Given the description of an element on the screen output the (x, y) to click on. 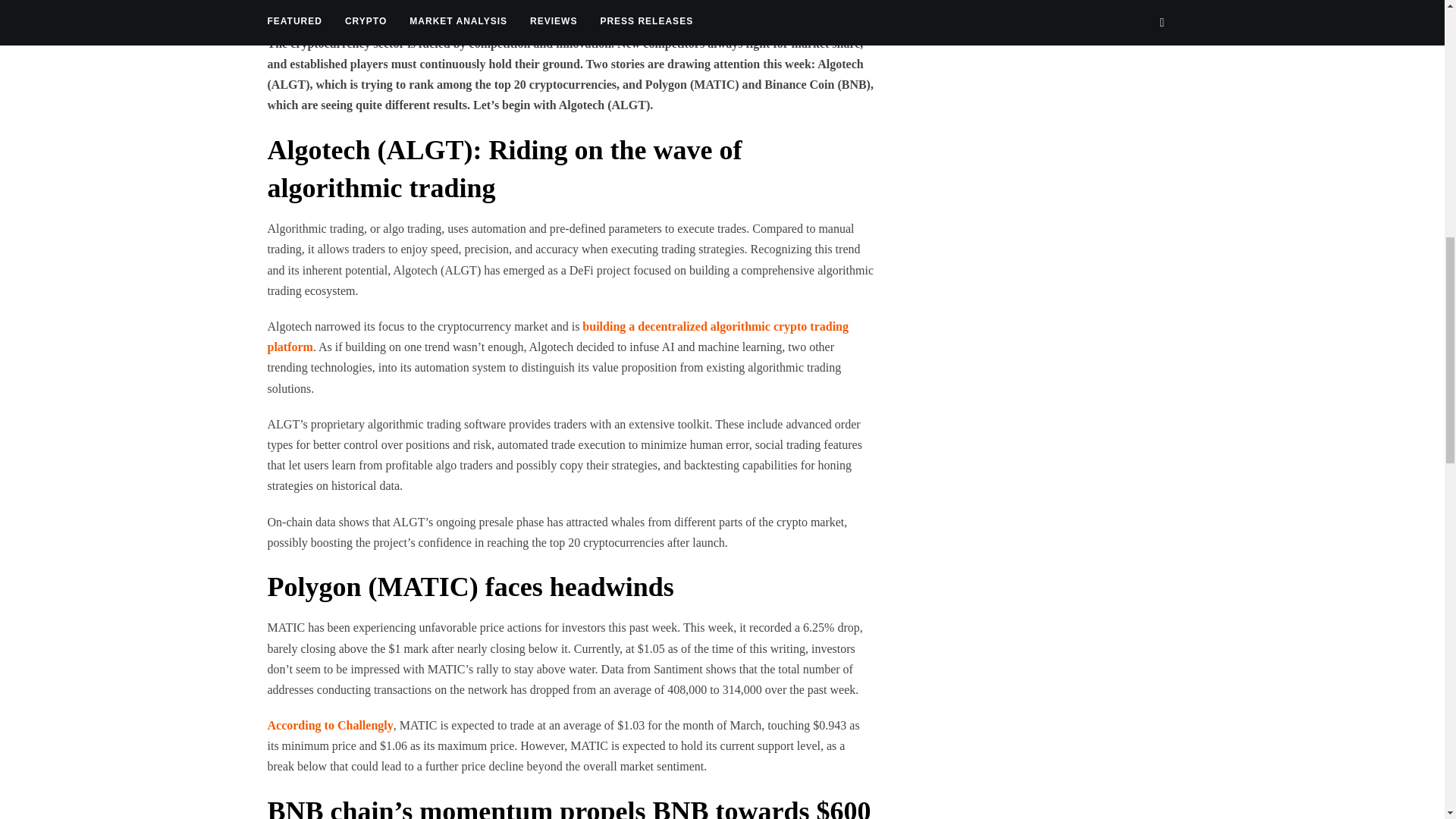
According to Challengly (329, 725)
Null Transaction PR (371, 4)
Posts by Null Transaction PR (371, 4)
building a decentralized algorithmic crypto trading platform (557, 336)
